Given the description of an element on the screen output the (x, y) to click on. 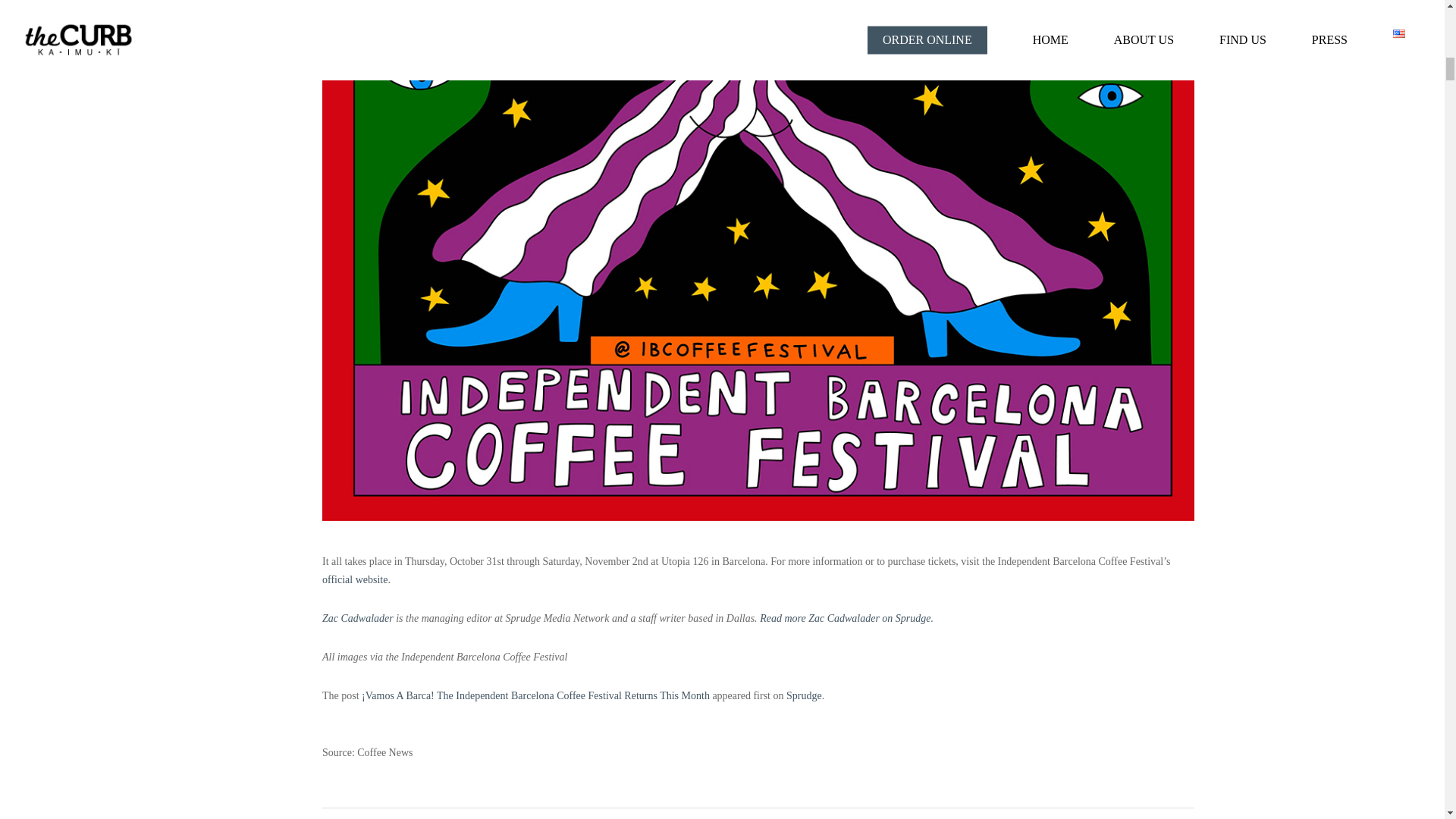
Read more Zac Cadwalader on Sprudge (845, 618)
Sprudge (804, 695)
Zac Cadwalader (357, 618)
official website (354, 579)
